Given the description of an element on the screen output the (x, y) to click on. 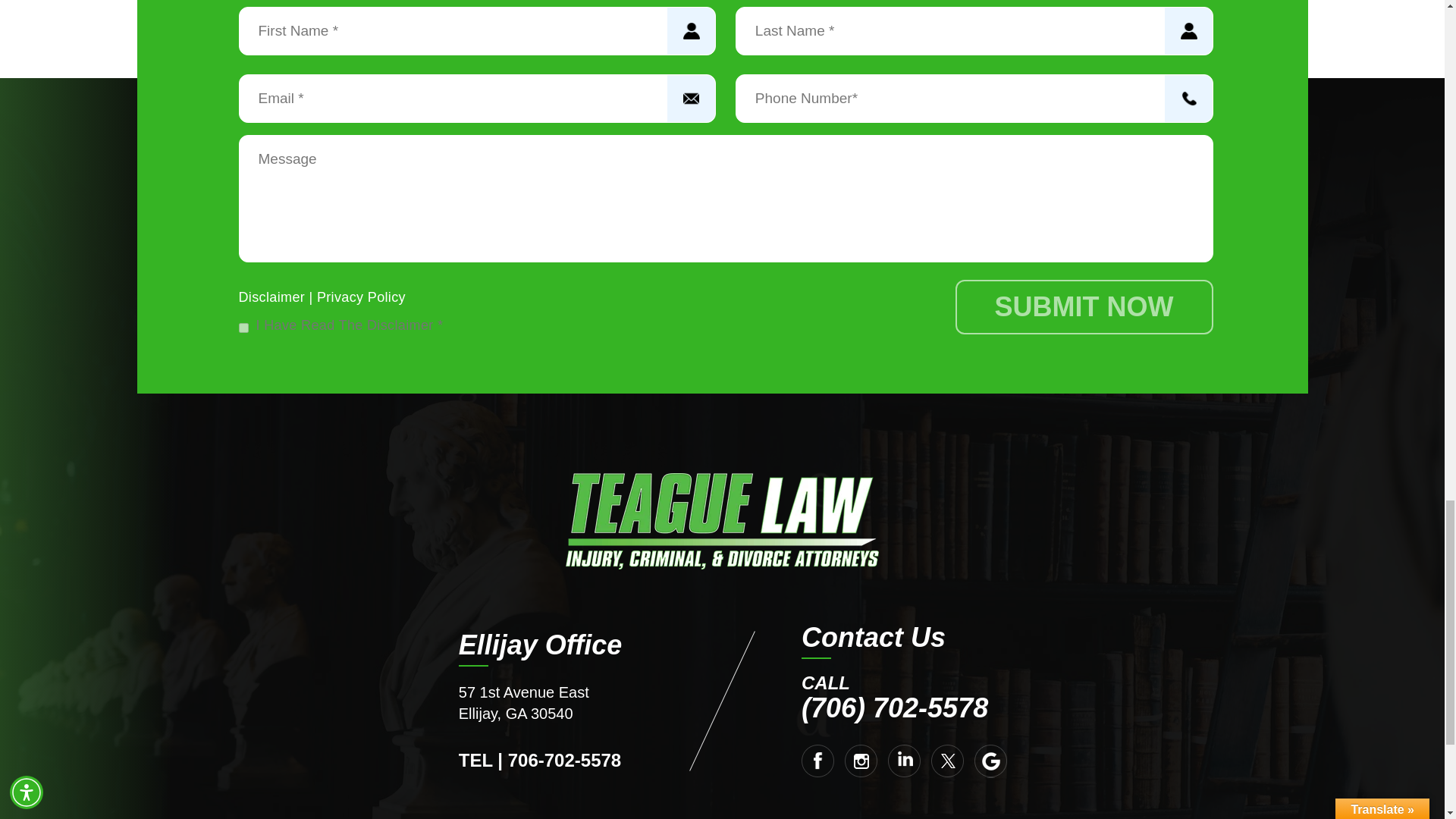
Submit Now (1083, 307)
